Given the description of an element on the screen output the (x, y) to click on. 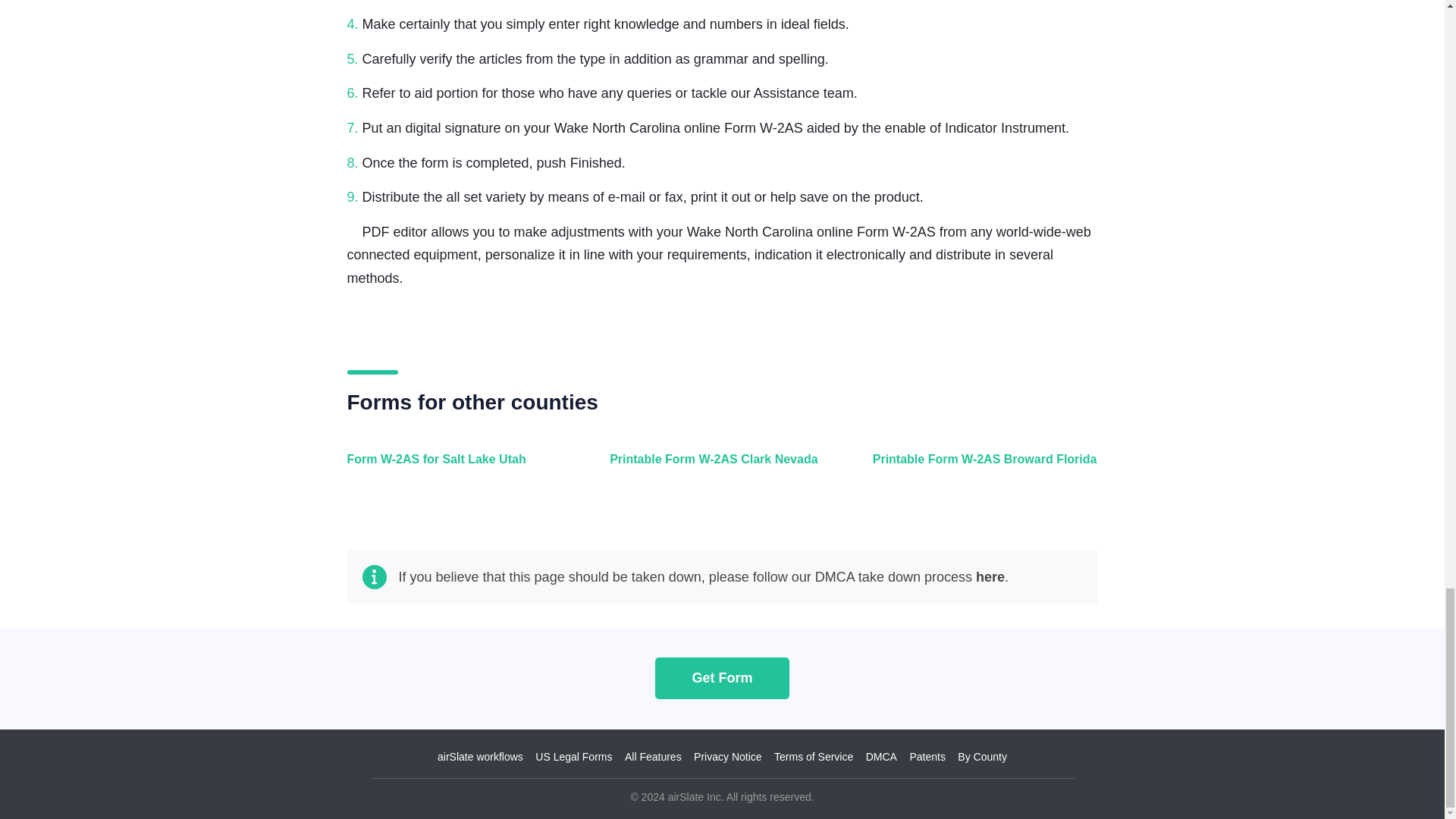
US Legal Forms (573, 756)
Get Form (722, 677)
Printable Form W-2AS Clark Nevada (718, 467)
Printable Form W-2AS Broward Florida (981, 467)
here (989, 576)
All Features (652, 756)
Terms of Service (813, 756)
By County (982, 756)
DMCA (881, 756)
Privacy Notice (727, 756)
airSlate workflows (480, 756)
Form W-2AS for Salt Lake Utah (456, 467)
Patents (926, 756)
